Given the description of an element on the screen output the (x, y) to click on. 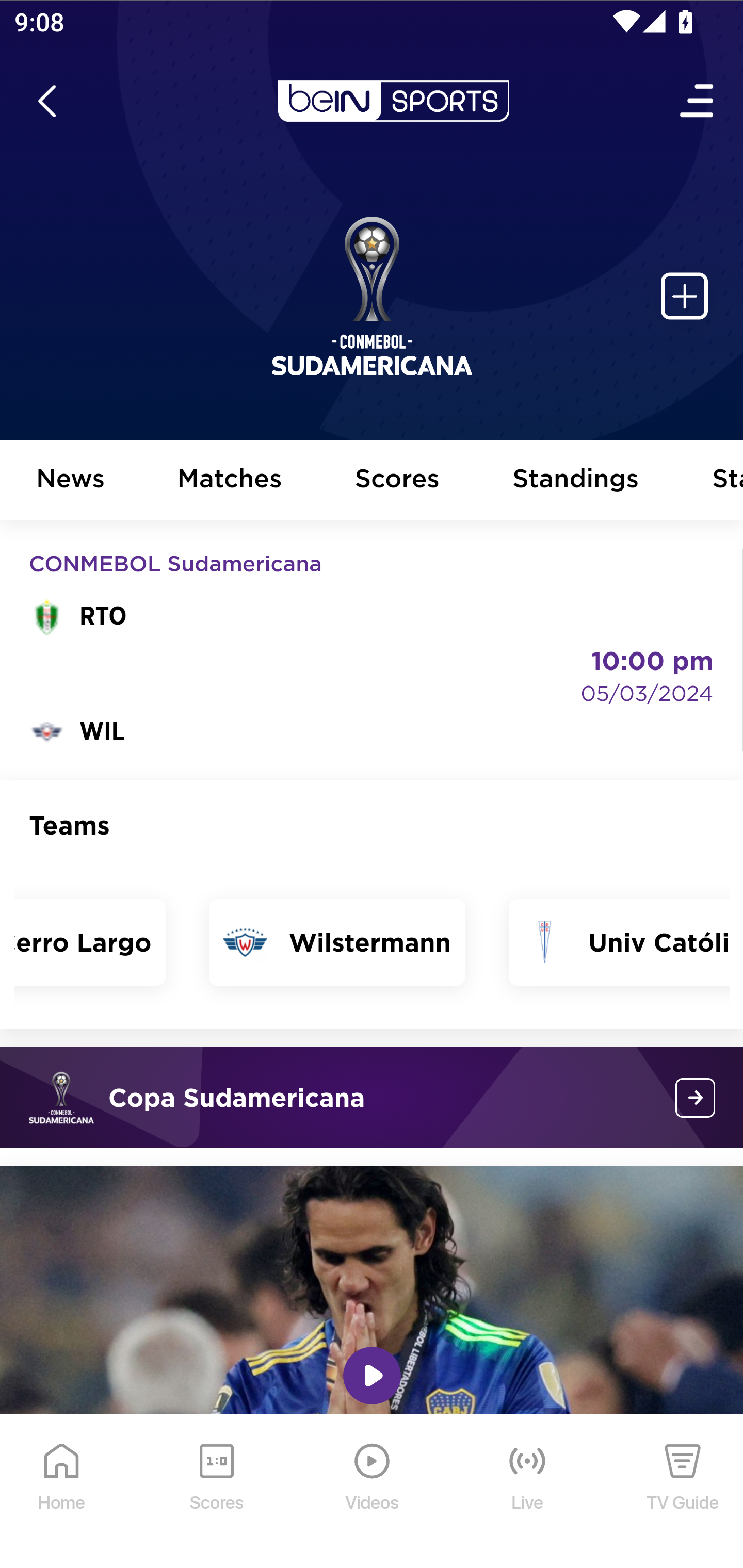
en-us?platform=mobile_android bein logo white (392, 101)
icon back (46, 101)
Open Menu Icon (697, 101)
News (70, 480)
Matches (229, 480)
Scores (397, 480)
Standings (575, 480)
Cerro Largo (90, 942)
Wilstermann Wilstermann Wilstermann (336, 942)
Univ Católica Univ Católica Univ Católica (619, 942)
conmebol-sudamericana?platform=mobile_android (695, 1097)
Home Home Icon Home (61, 1491)
Scores Scores Icon Scores (216, 1491)
Videos Videos Icon Videos (372, 1491)
TV Guide TV Guide Icon TV Guide (682, 1491)
